Given the description of an element on the screen output the (x, y) to click on. 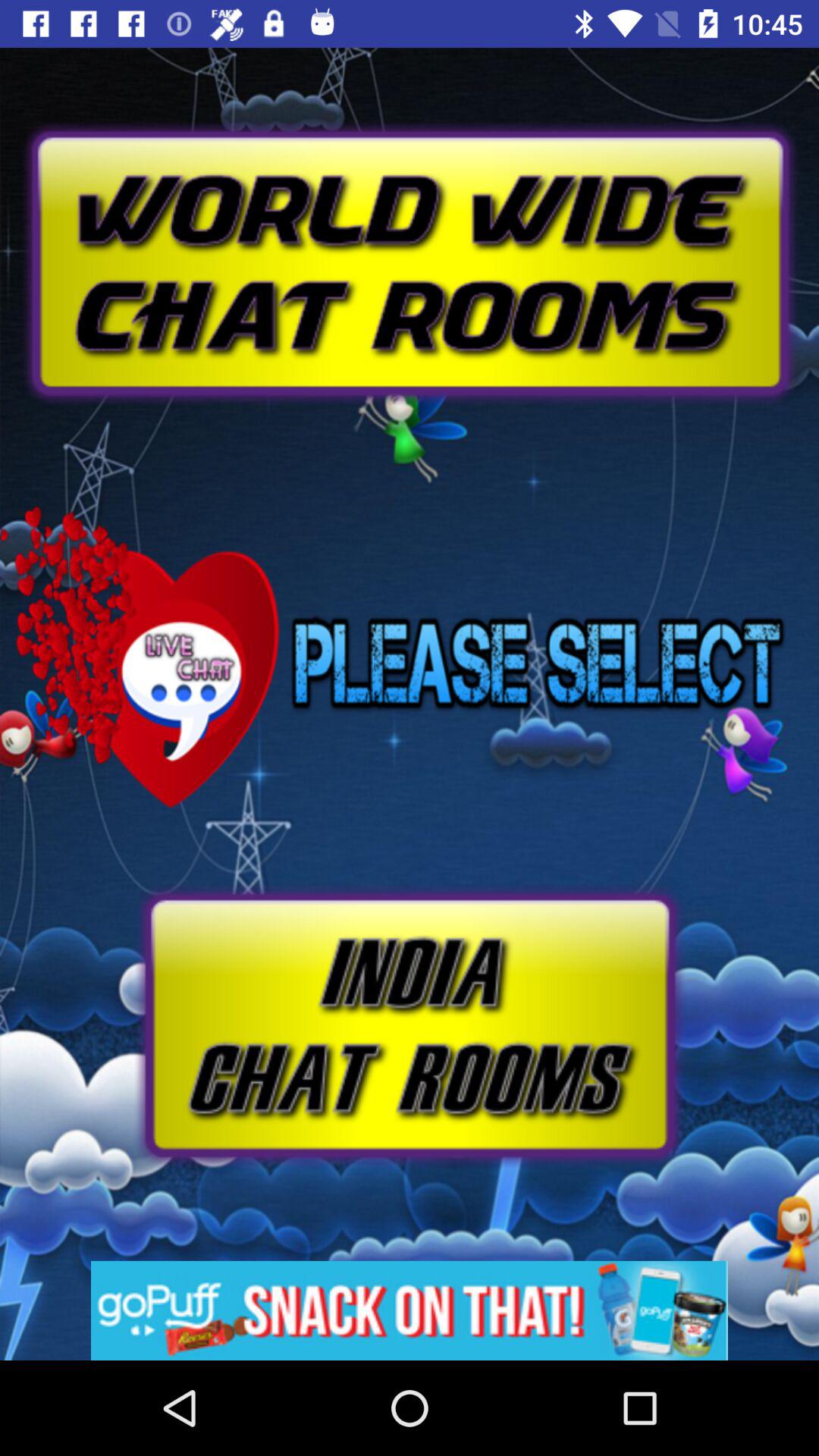
start chat option (409, 1025)
